Given the description of an element on the screen output the (x, y) to click on. 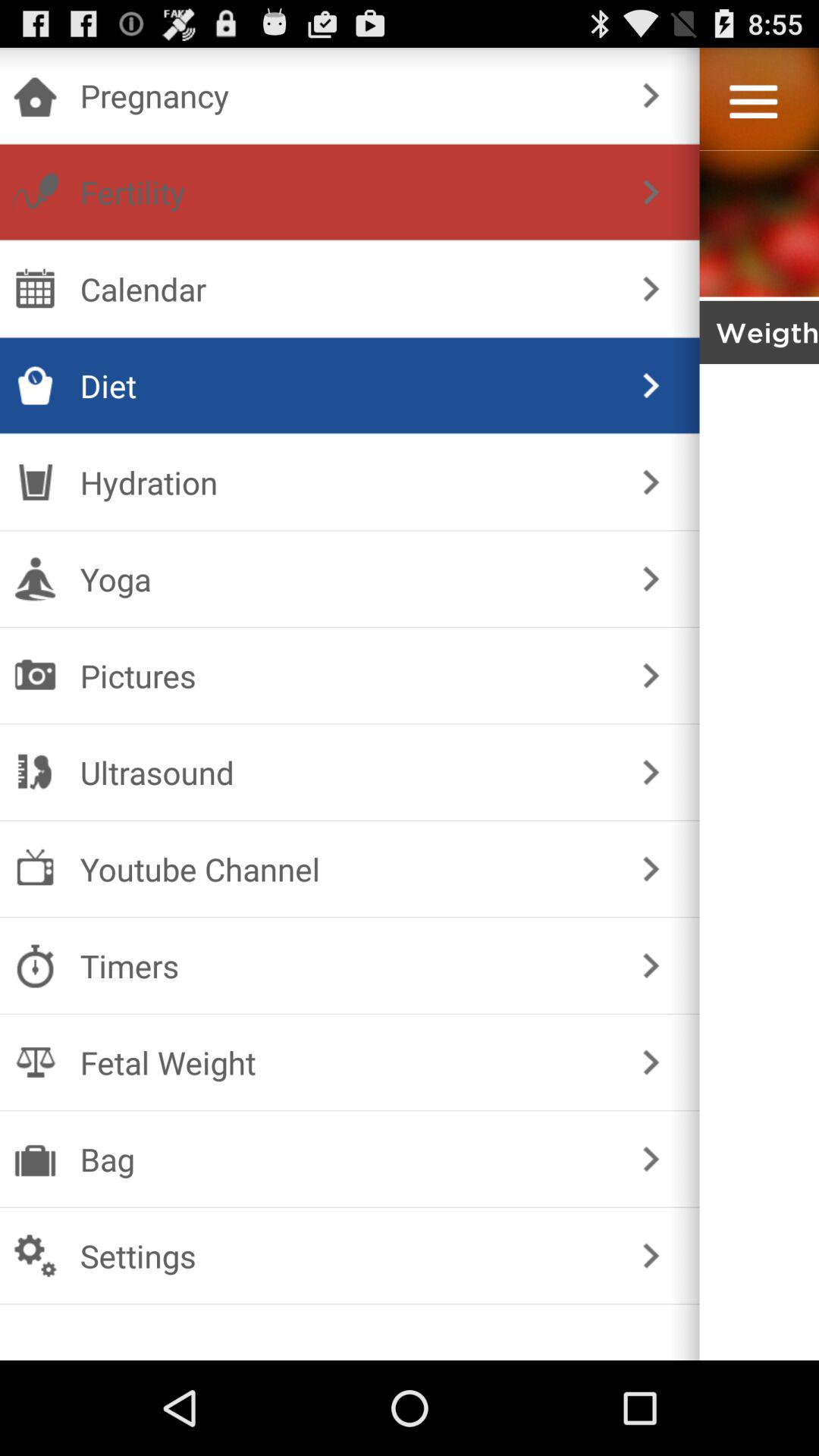
hide menu (759, 808)
